Given the description of an element on the screen output the (x, y) to click on. 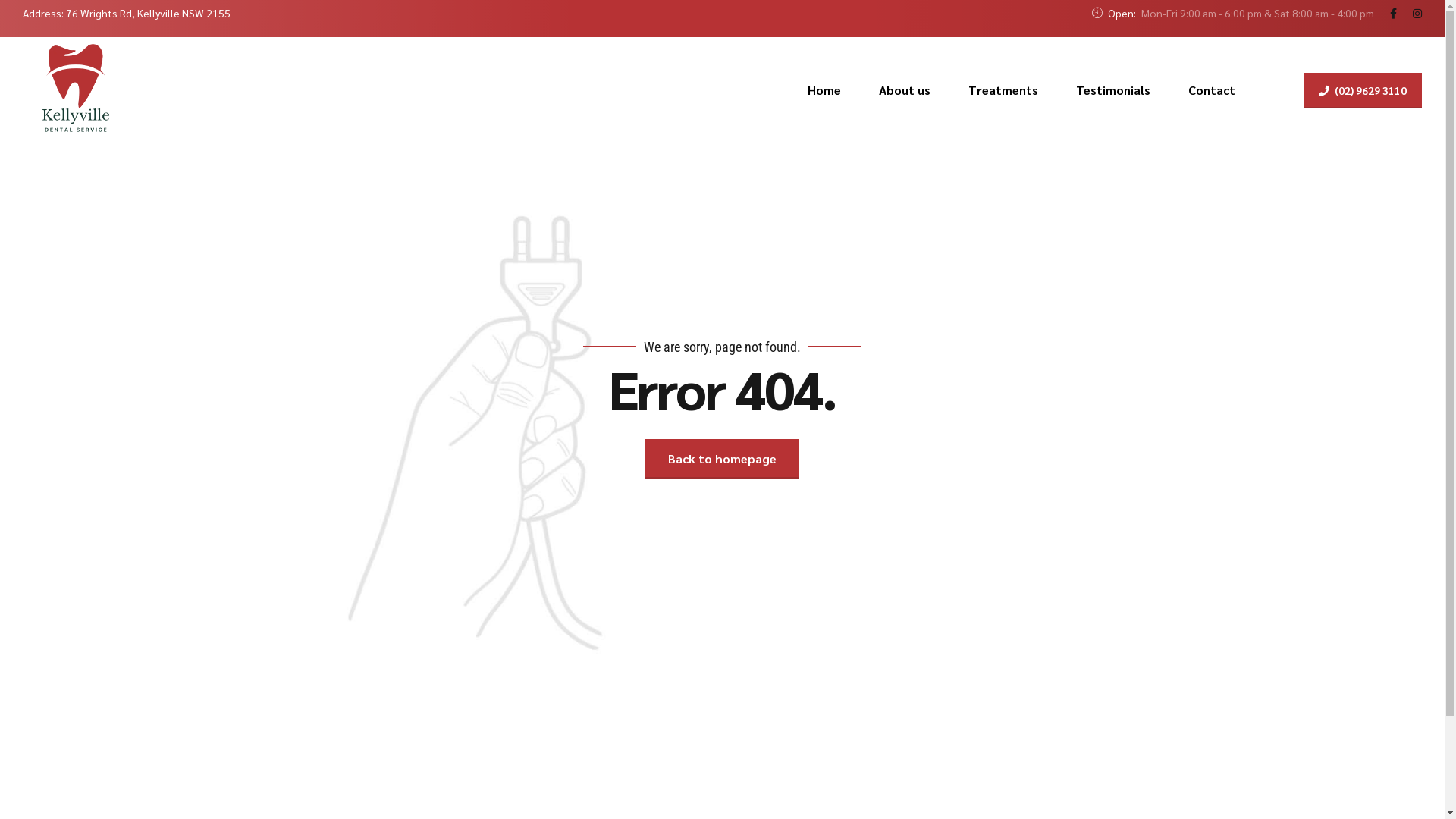
Home Element type: text (823, 90)
Back to homepage Element type: text (722, 458)
Treatments Element type: text (1003, 90)
(02) 9629 3110 Element type: text (1362, 90)
About us Element type: text (904, 90)
Testimonials Element type: text (1113, 90)
Contact Element type: text (1211, 90)
